Given the description of an element on the screen output the (x, y) to click on. 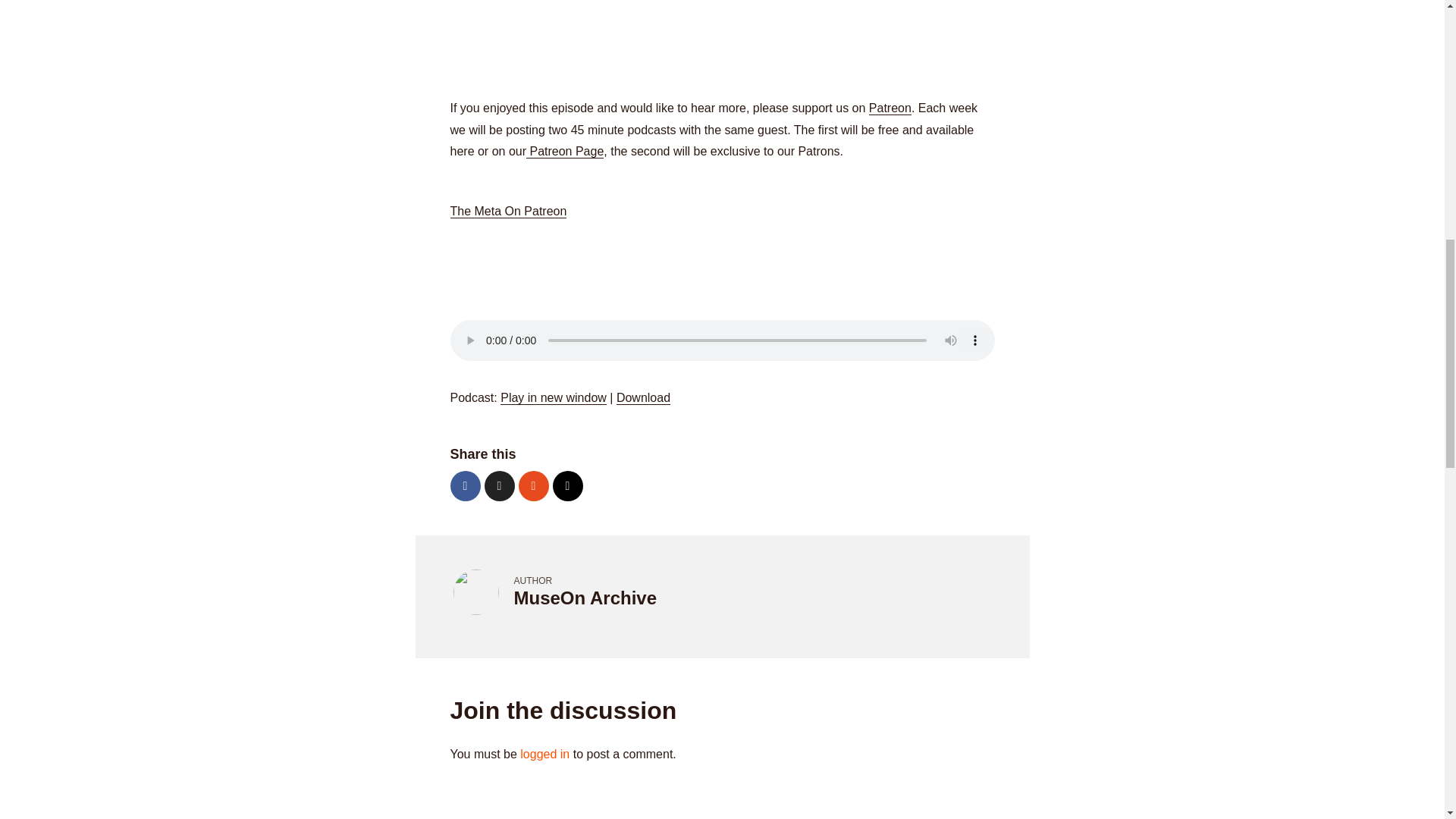
logged in (544, 753)
Patreon Page (564, 151)
Play in new window (553, 397)
Patreon (890, 108)
Download (642, 397)
The Meta On Patreon (508, 211)
Download (642, 397)
Play in new window (553, 397)
MuseOn Archive (585, 598)
